Given the description of an element on the screen output the (x, y) to click on. 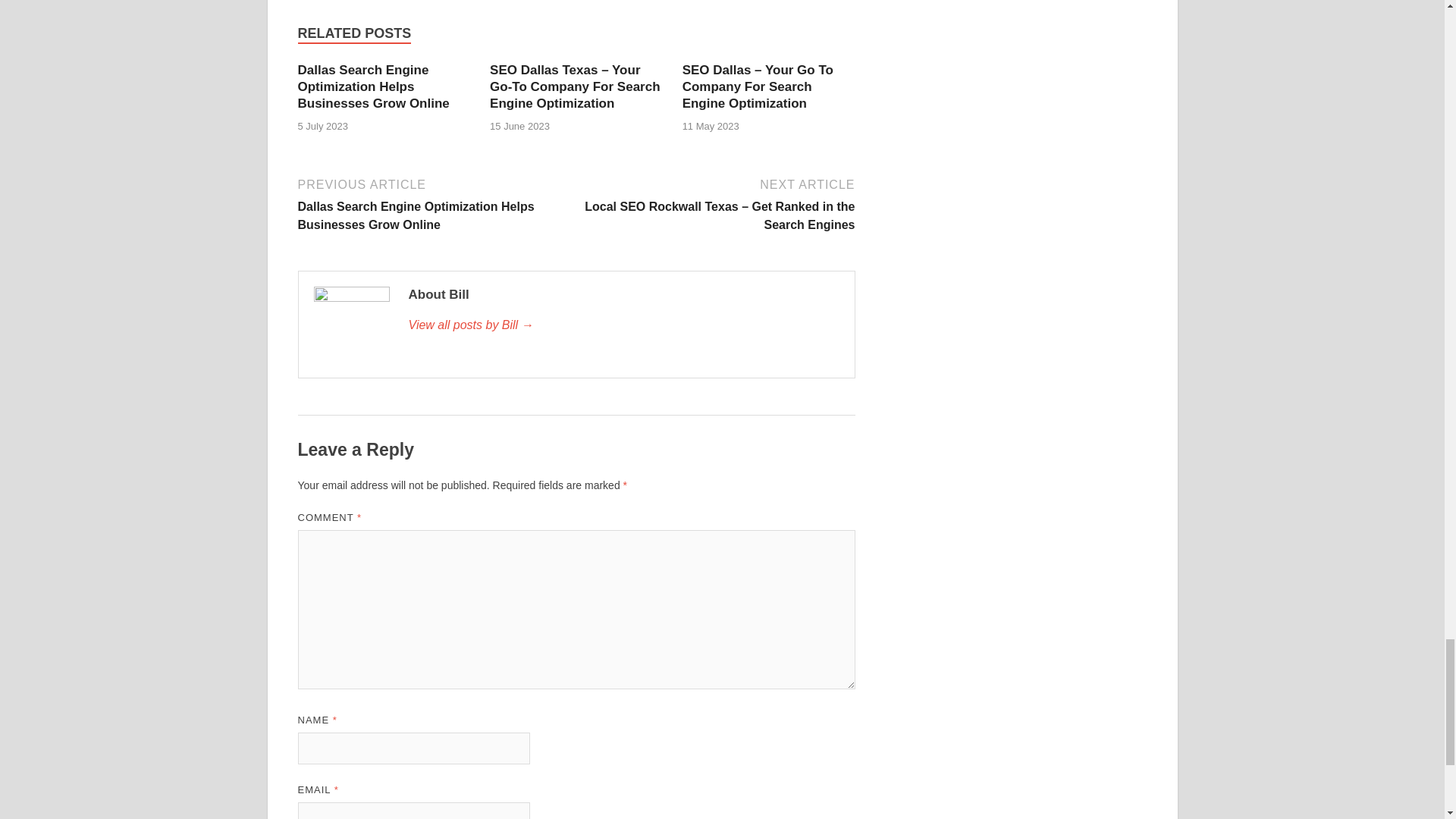
Bill (622, 325)
